Given the description of an element on the screen output the (x, y) to click on. 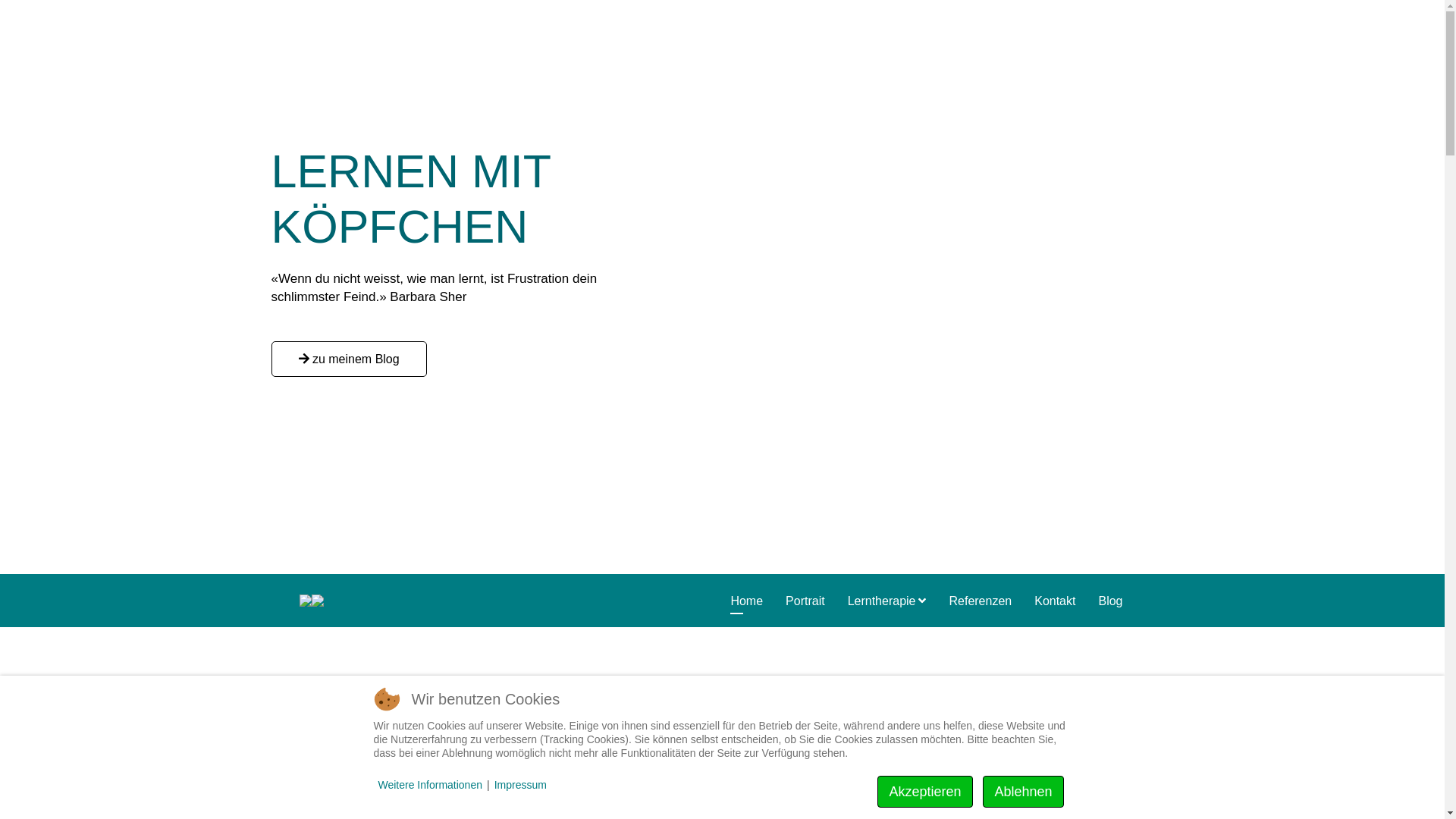
Weitere Informationen Element type: text (429, 784)
Lerntherapie Element type: text (886, 600)
Ablehnen Element type: text (1022, 791)
Impressum Element type: text (520, 784)
zu meinem Blog Element type: text (348, 358)
Blog Element type: text (1110, 600)
Kontakt Element type: text (1054, 600)
Referenzen Element type: text (979, 600)
Akzeptieren Element type: text (924, 791)
Portrait Element type: text (805, 600)
Home Element type: text (746, 600)
